Given the description of an element on the screen output the (x, y) to click on. 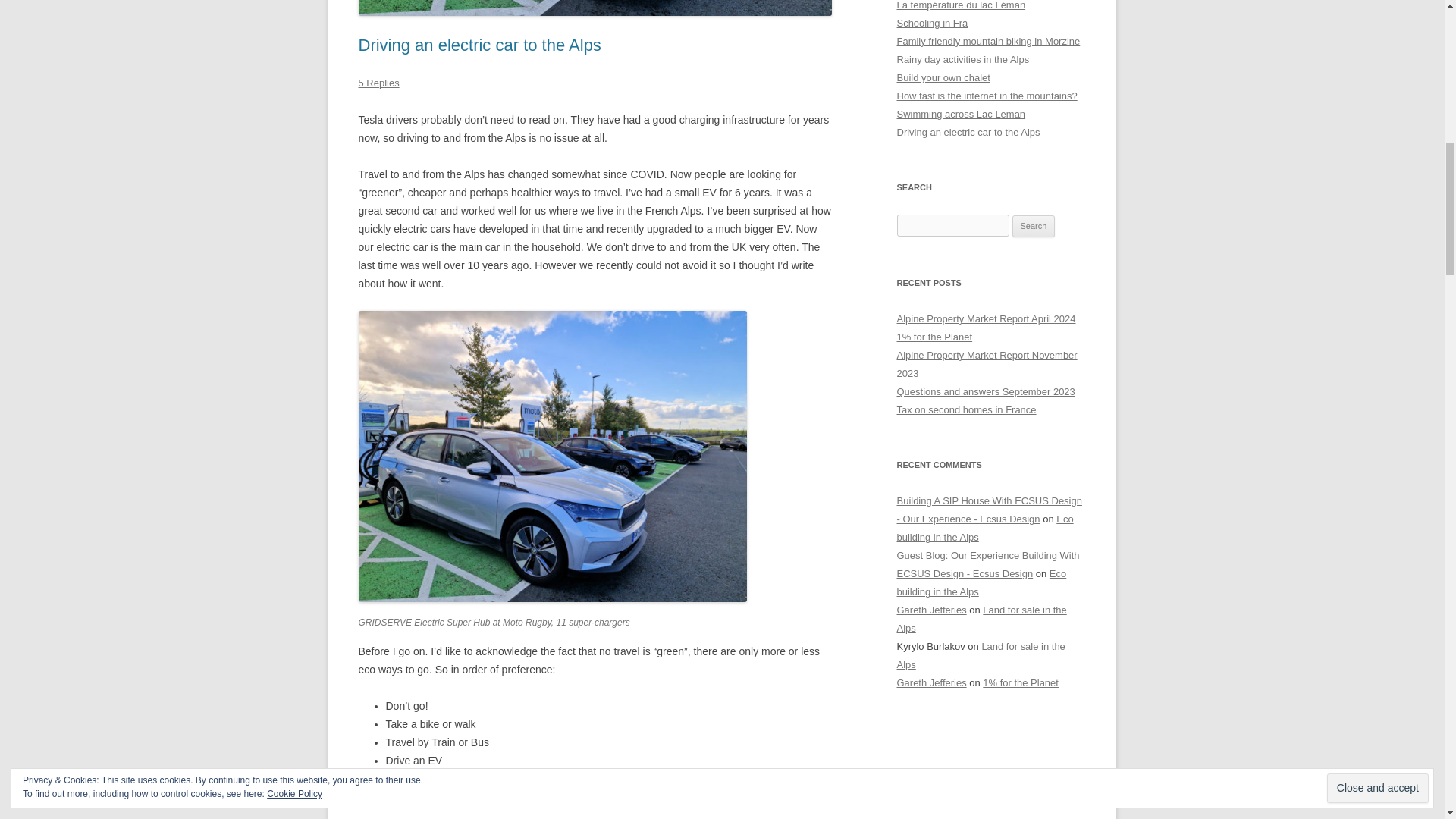
Driving an electric car to the Alps (478, 45)
Search (1033, 226)
5 Replies (378, 82)
